Given the description of an element on the screen output the (x, y) to click on. 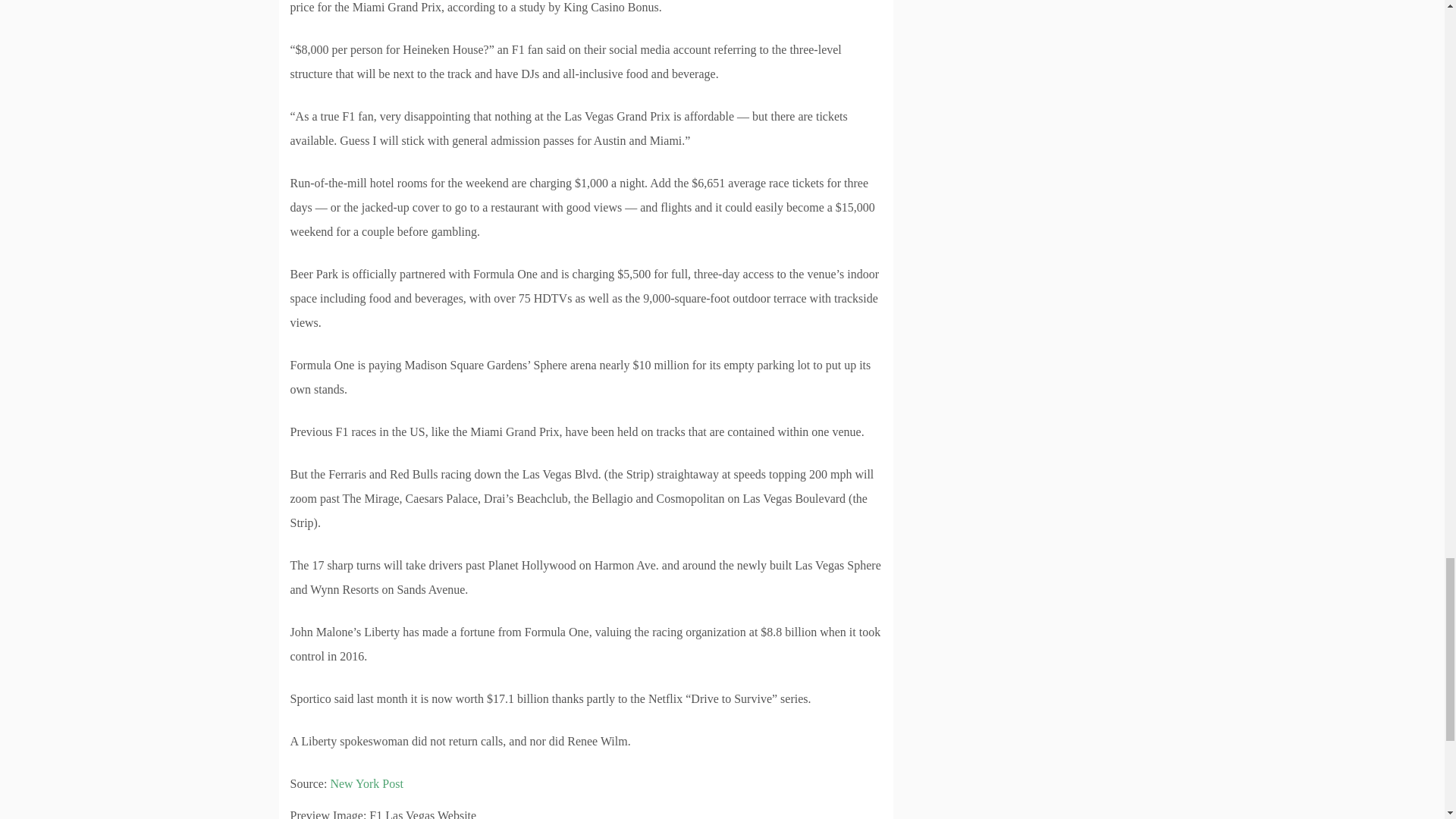
New York Post  (366, 783)
